Given the description of an element on the screen output the (x, y) to click on. 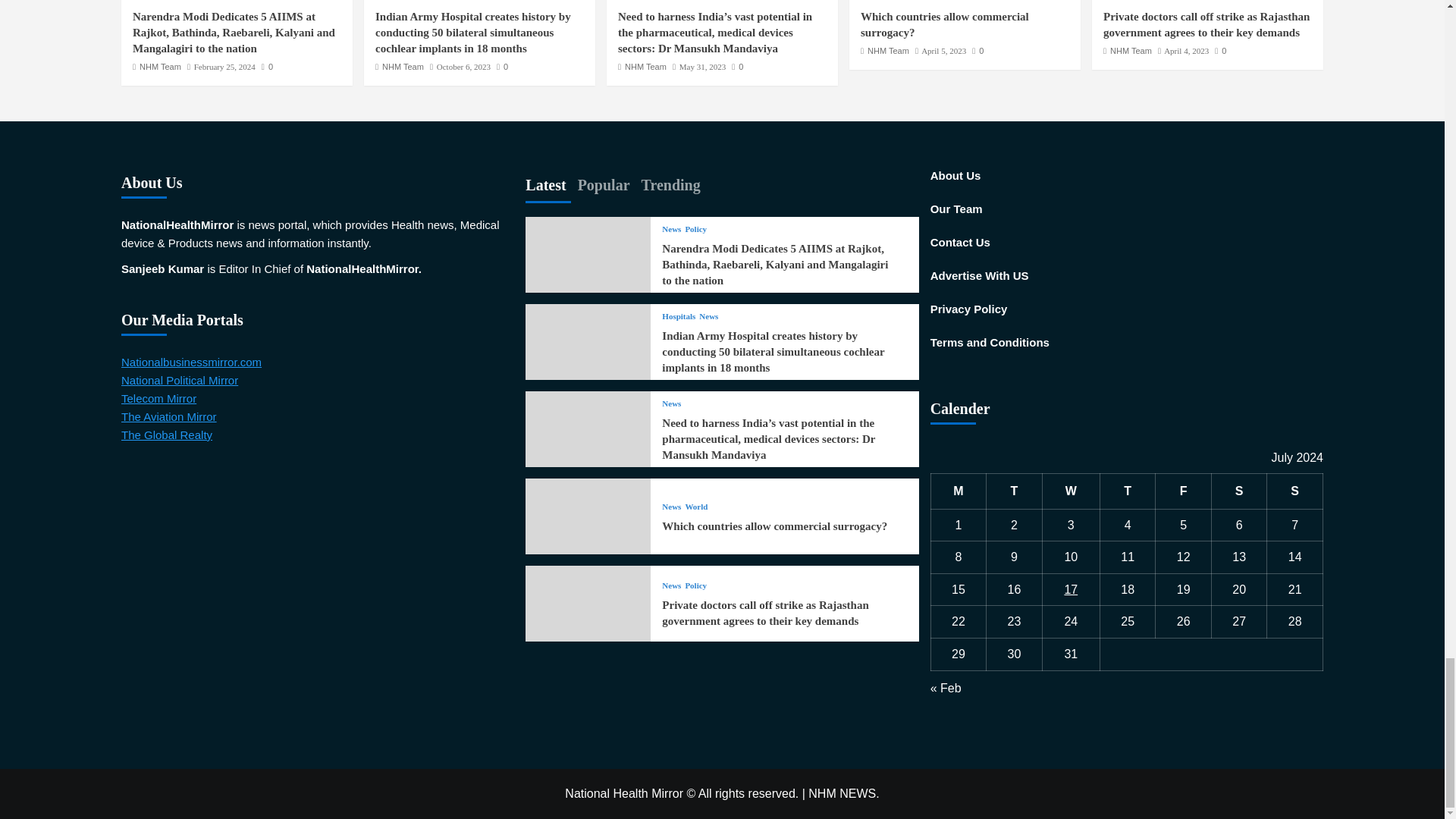
Wednesday (1070, 491)
Tuesday (1014, 491)
Saturday (1238, 491)
Sunday (1294, 491)
Friday (1183, 491)
Thursday (1127, 491)
Monday (958, 491)
